Given the description of an element on the screen output the (x, y) to click on. 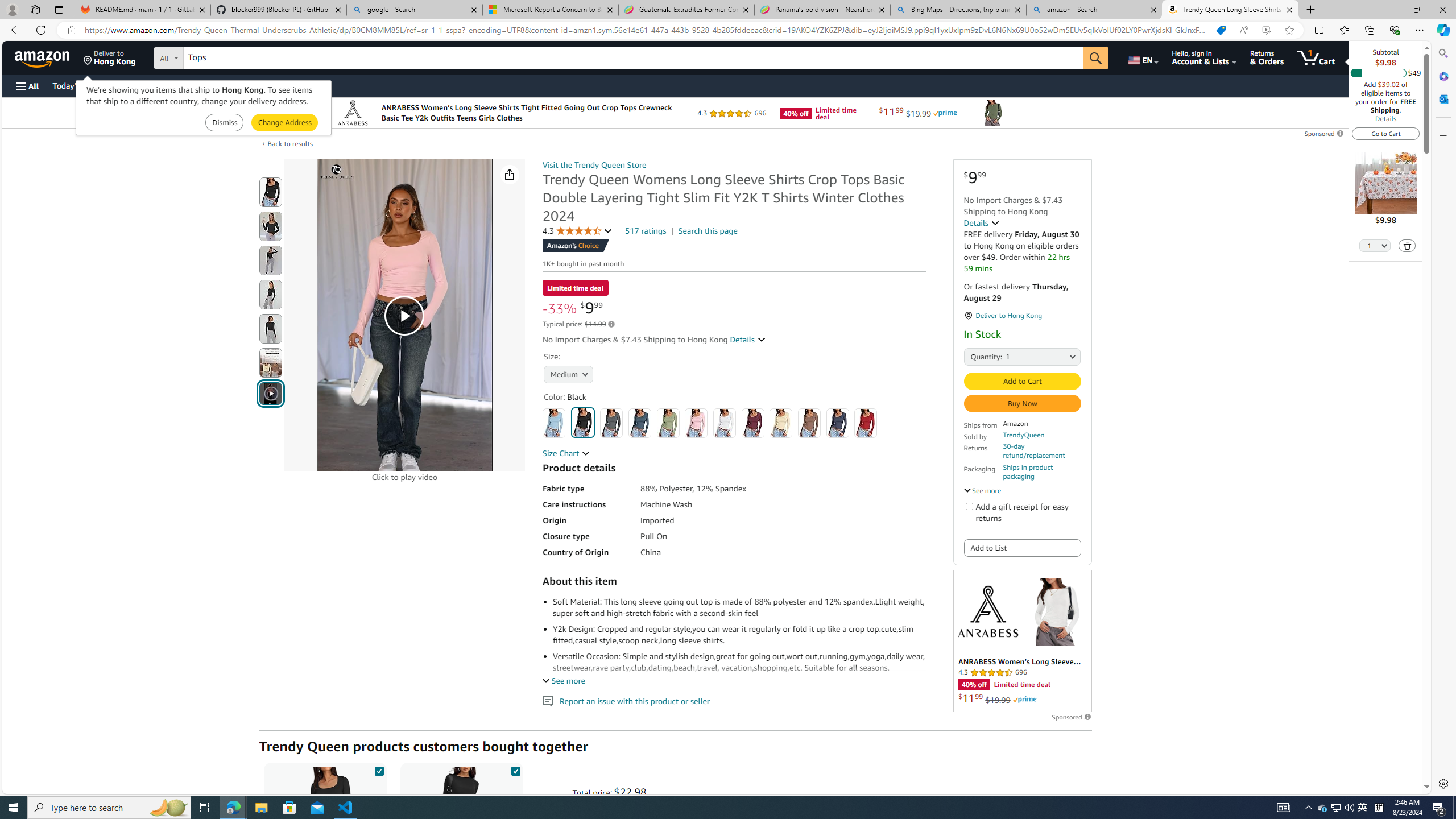
Add a gift receipt for easy returns (968, 506)
Go to Cart (1385, 133)
AutomationID: native_dropdown_selected_size_name (566, 373)
Pink (696, 422)
Submit (284, 122)
TrendyQueen (1024, 434)
